Given the description of an element on the screen output the (x, y) to click on. 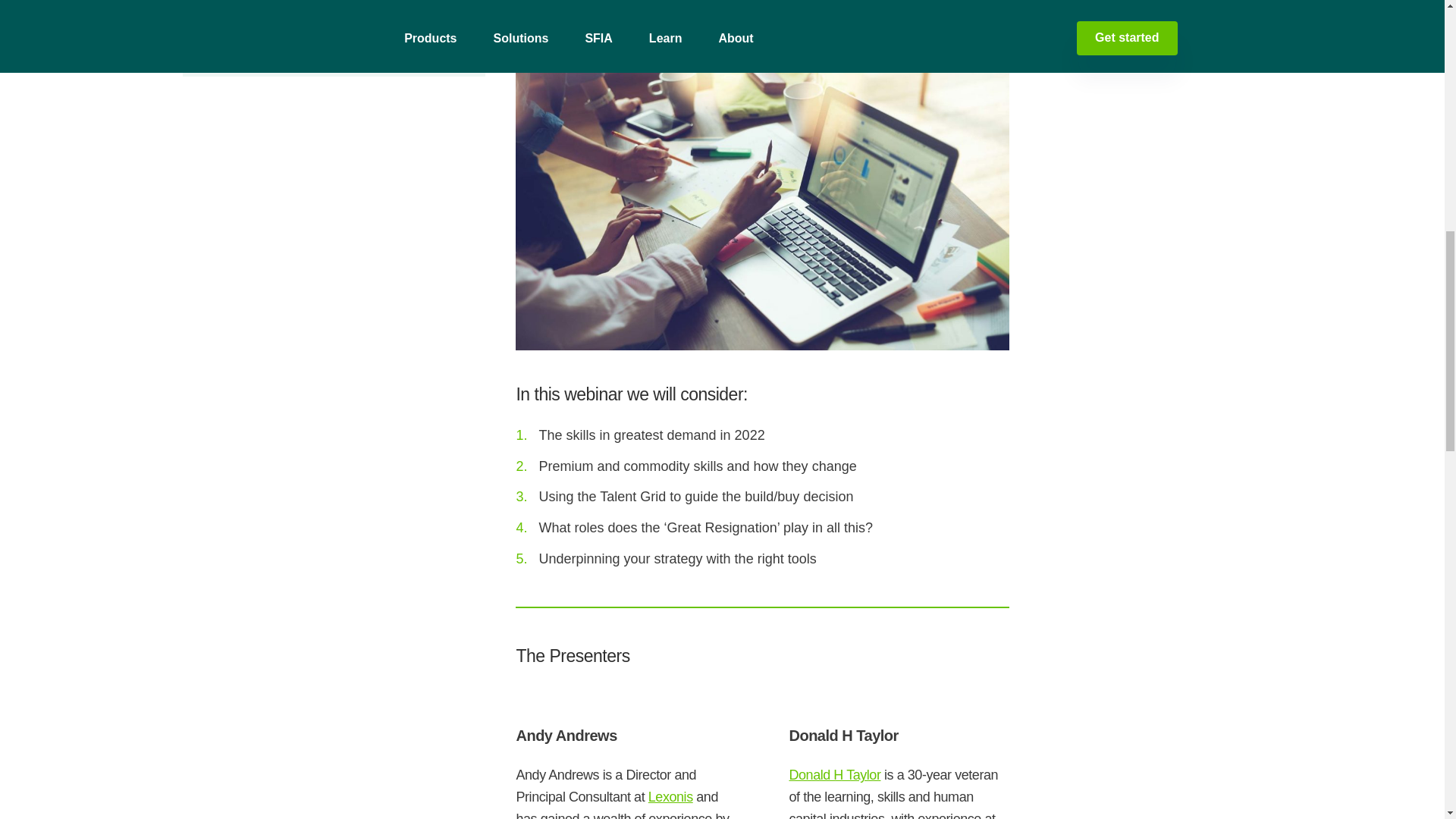
Donald H Taylor (834, 774)
Register now (322, 7)
Lexonis (670, 796)
